Given the description of an element on the screen output the (x, y) to click on. 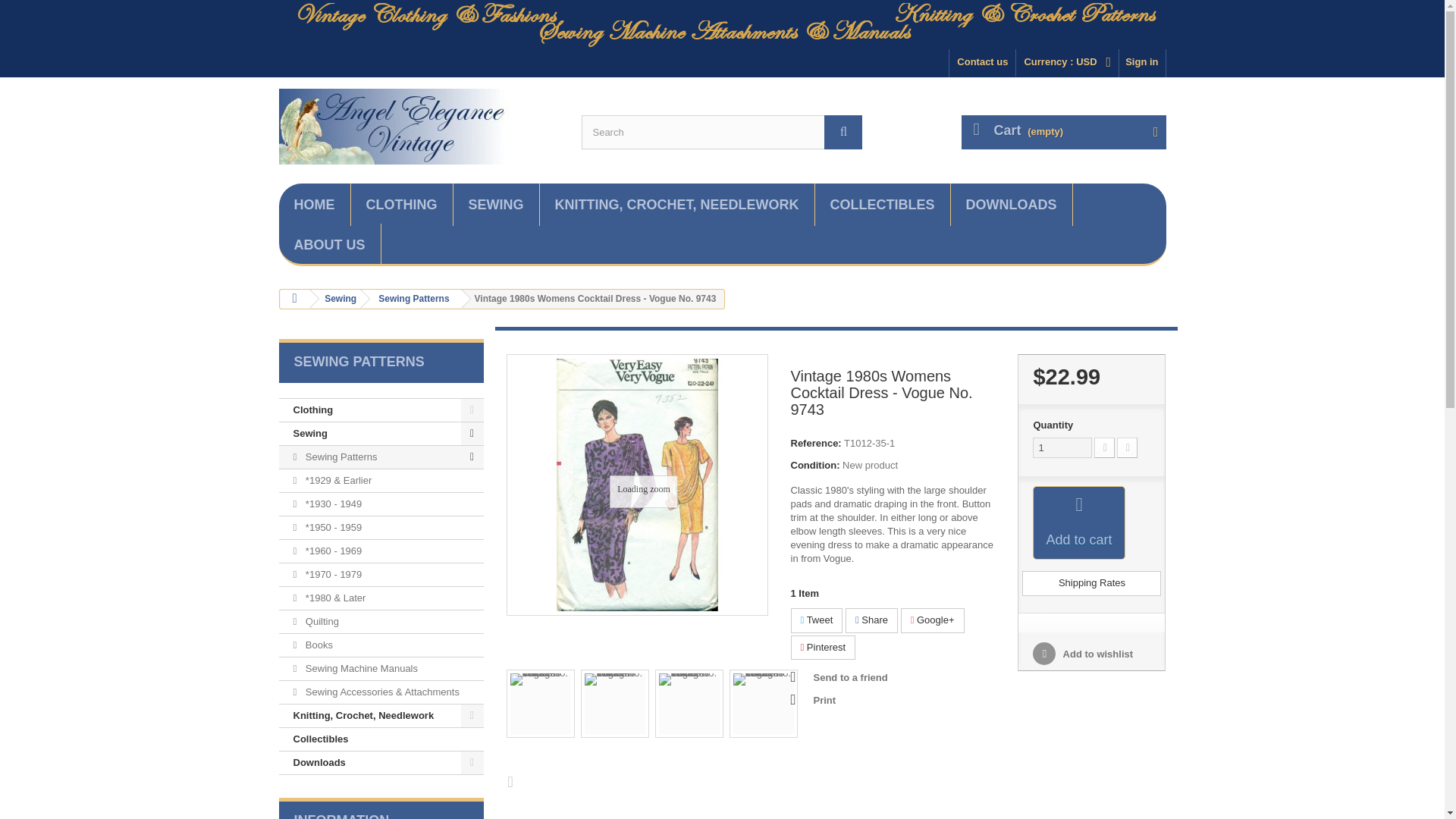
Angel Elegance Vintage (419, 126)
View my shopping cart (1063, 132)
1 (1062, 447)
HOME (314, 204)
CLOTHING (400, 204)
Sign in (1141, 62)
Log in to your customer account (1141, 62)
Contact us (981, 62)
Contact us (981, 62)
SEWING (495, 204)
Home (314, 204)
Clothing (400, 204)
